Given the description of an element on the screen output the (x, y) to click on. 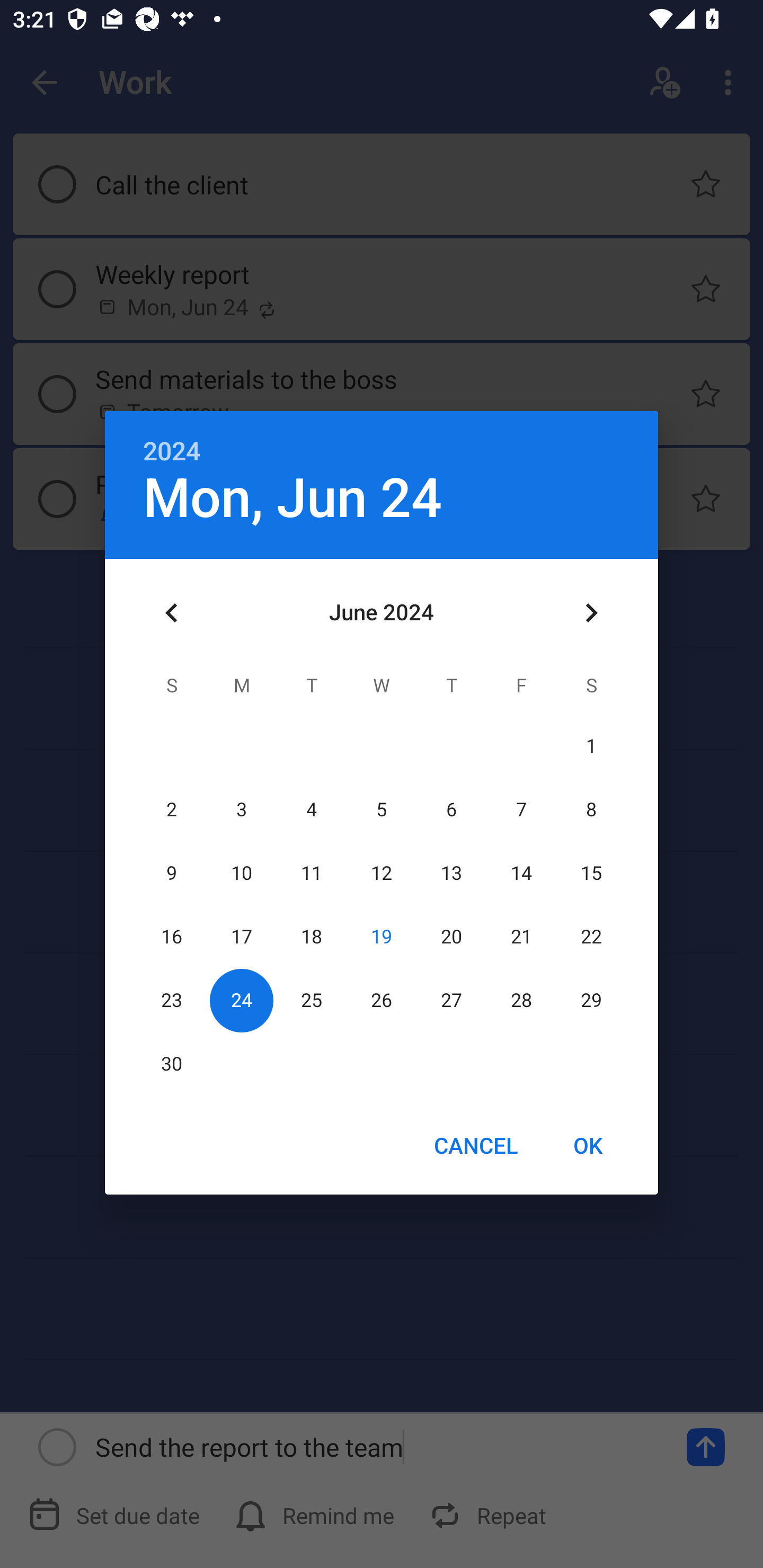
OK (588, 1145)
